Given the description of an element on the screen output the (x, y) to click on. 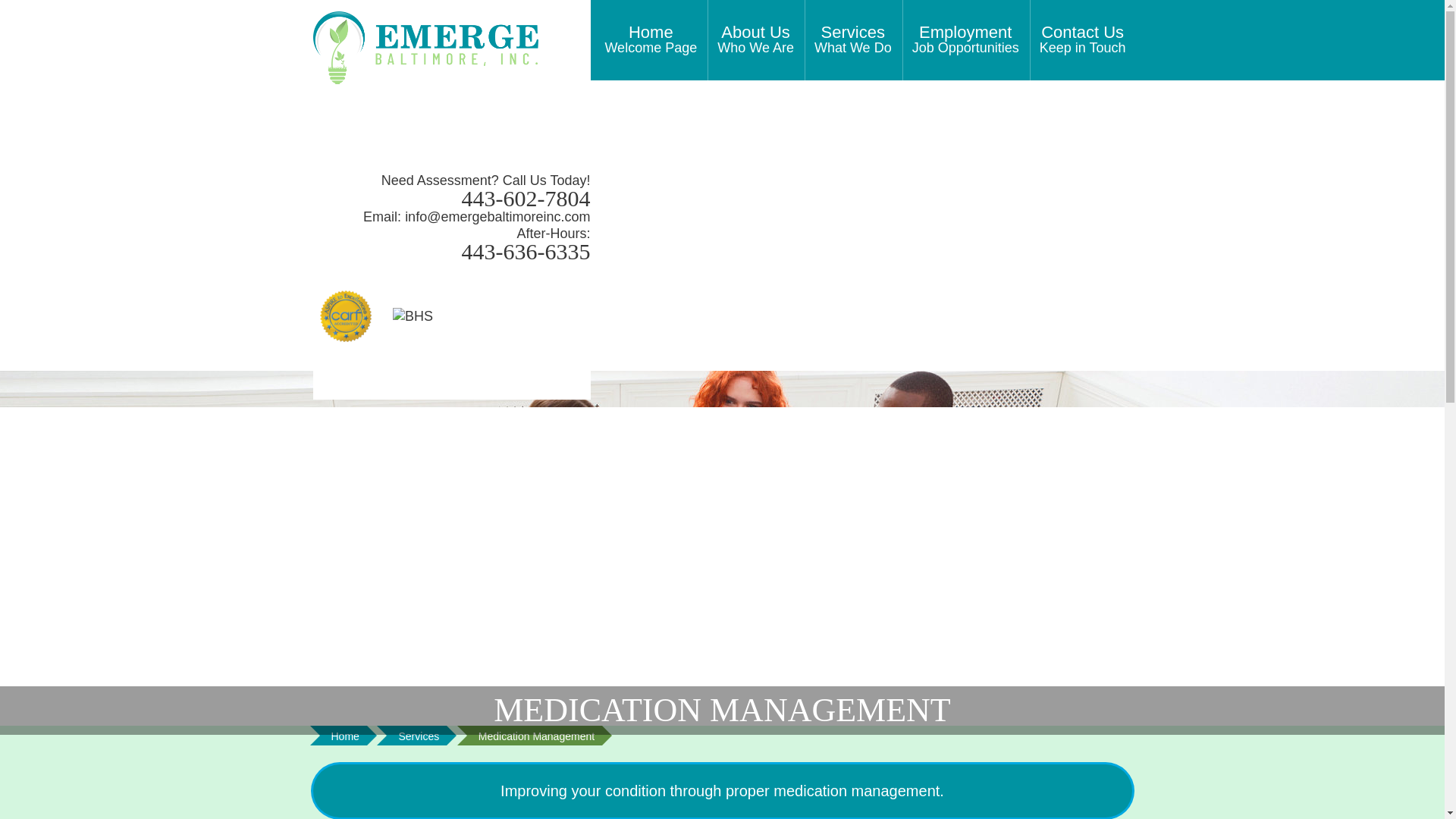
Medication Management (536, 735)
Services (418, 735)
Home (649, 40)
Services (344, 735)
Medication Management (755, 40)
Home (418, 735)
